Given the description of an element on the screen output the (x, y) to click on. 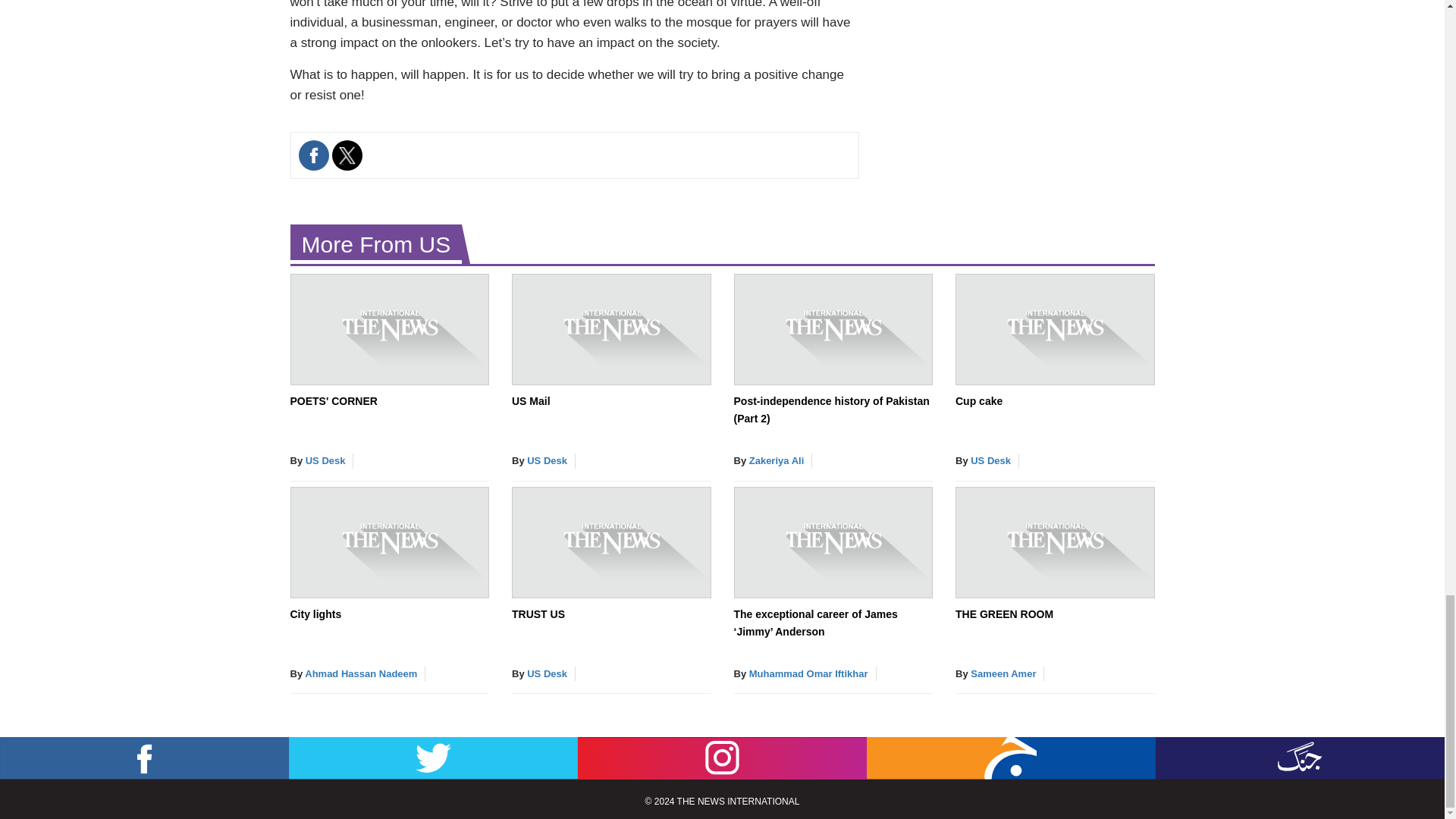
US Desk (325, 460)
City lights (314, 613)
TRUST US (538, 613)
Cup cake (979, 400)
Ahmad Hassan Nadeem (360, 673)
US Mail (531, 400)
US Desk (547, 460)
POETS' CORNER (333, 400)
Zakeriya Ali (777, 460)
US Desk (990, 460)
